Given the description of an element on the screen output the (x, y) to click on. 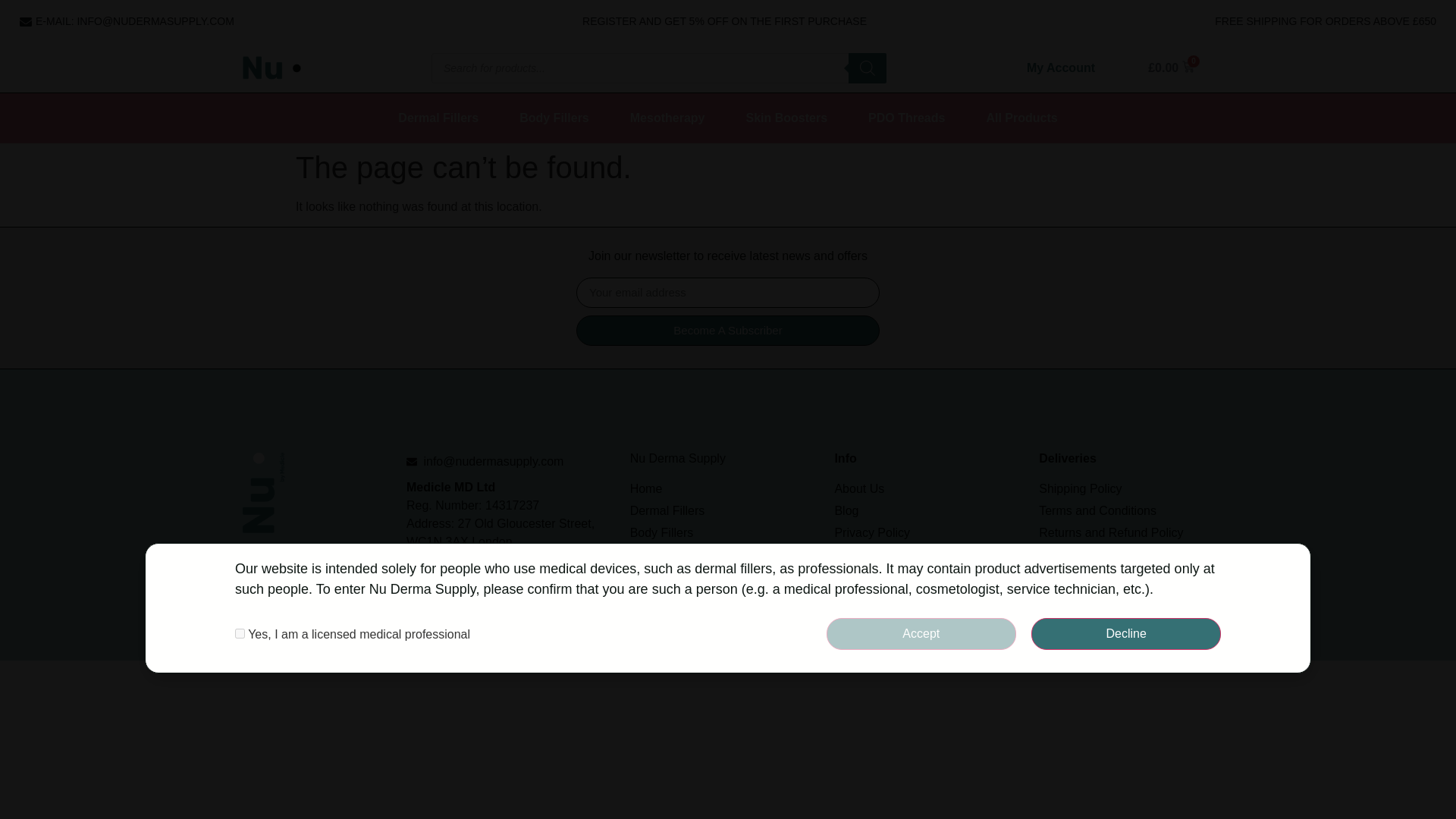
Mesotherapy (667, 117)
My Account (1060, 66)
Skin Boosters (786, 117)
on (239, 633)
All Products (1021, 117)
PDO Threads (906, 117)
Body Fillers (553, 117)
Dermal Fillers (437, 117)
